Given the description of an element on the screen output the (x, y) to click on. 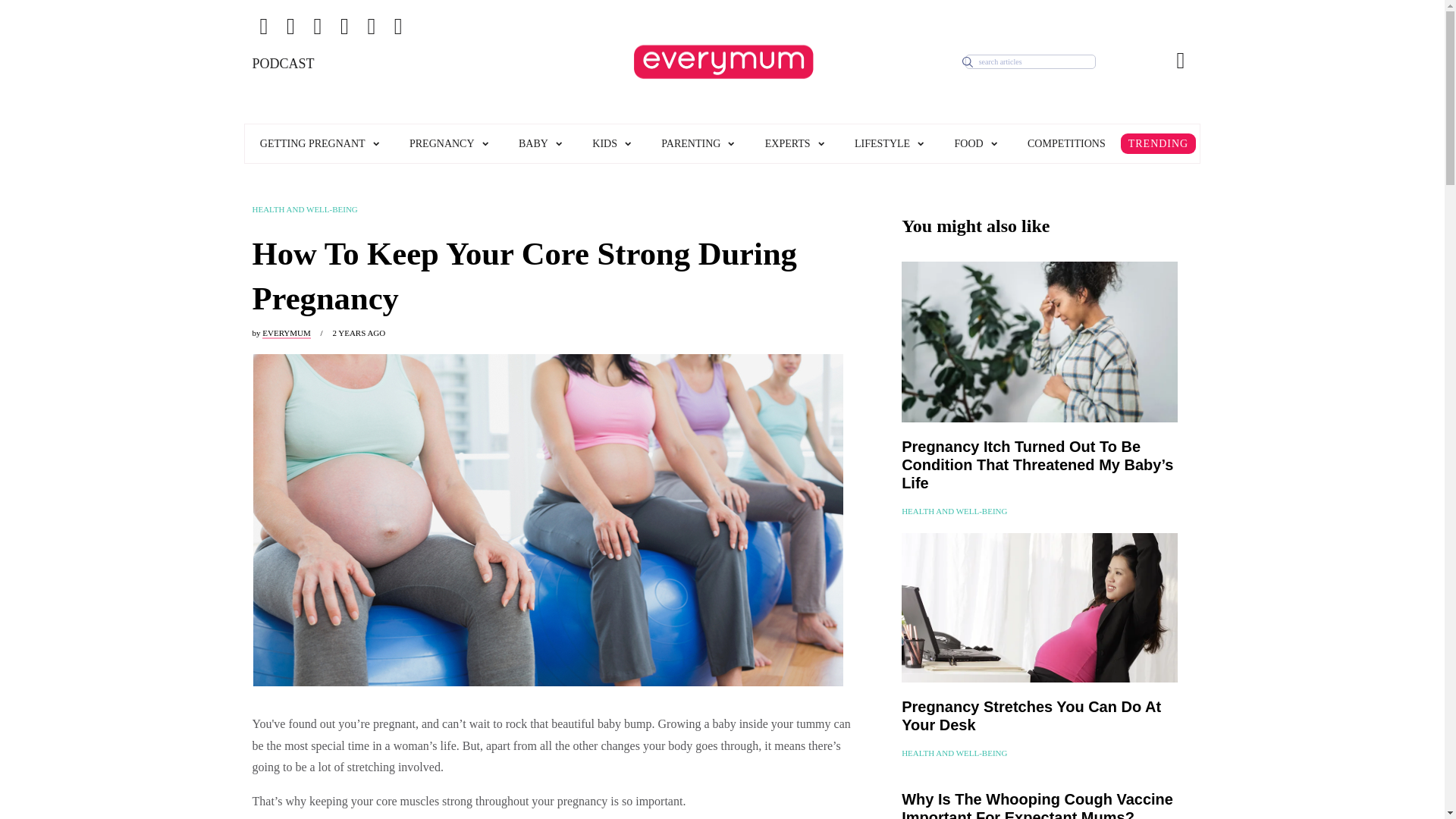
BABY (539, 143)
Submit the search query (967, 61)
GETTING PREGNANT (319, 143)
KIDS (611, 143)
PODCAST (333, 95)
PREGNANCY (448, 143)
